Given the description of an element on the screen output the (x, y) to click on. 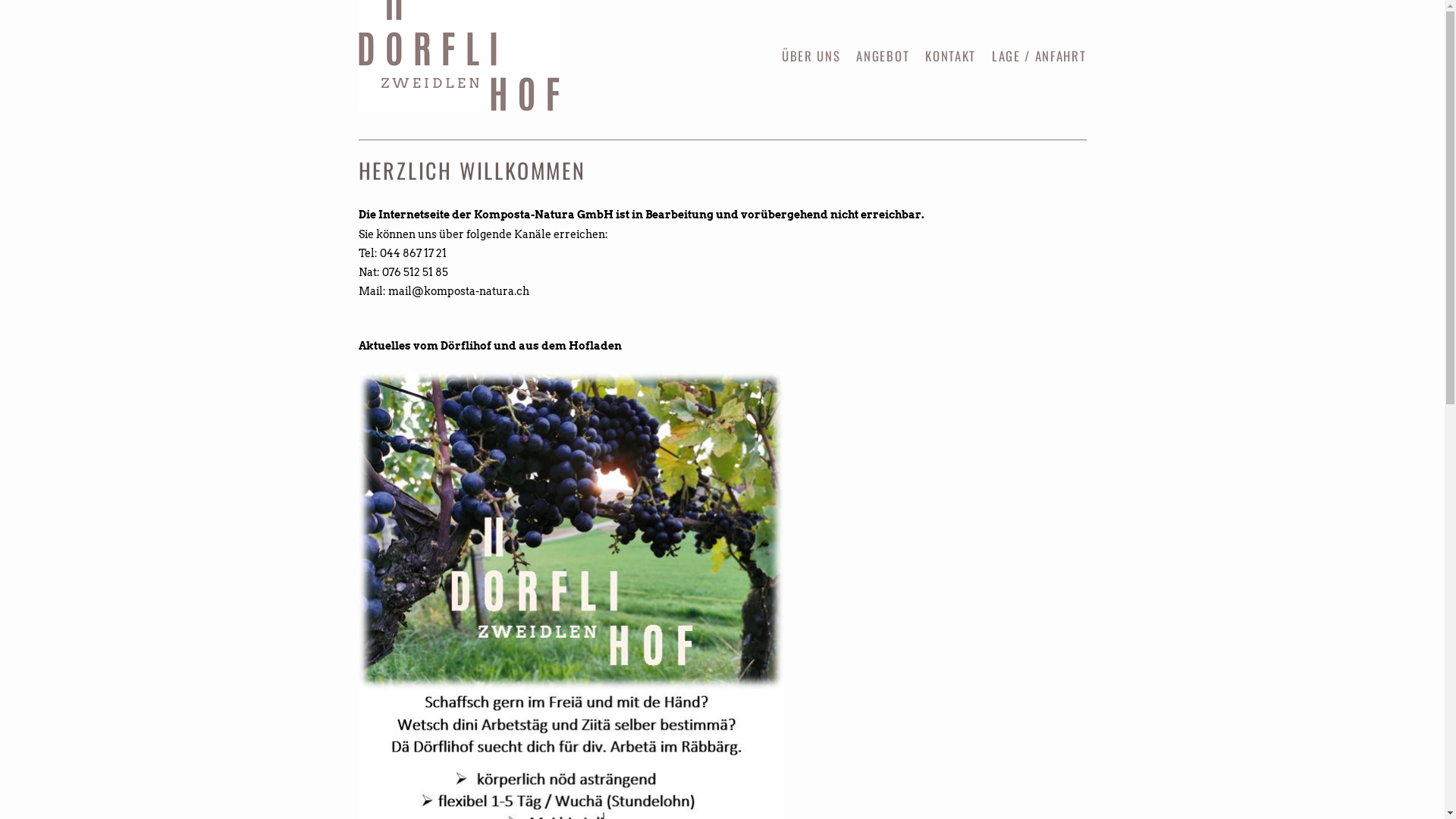
ANGEBOT Element type: text (882, 55)
LAGE / ANFAHRT Element type: text (1038, 55)
KONTAKT Element type: text (950, 55)
SKIP TO CONTENT Element type: text (835, 56)
